Given the description of an element on the screen output the (x, y) to click on. 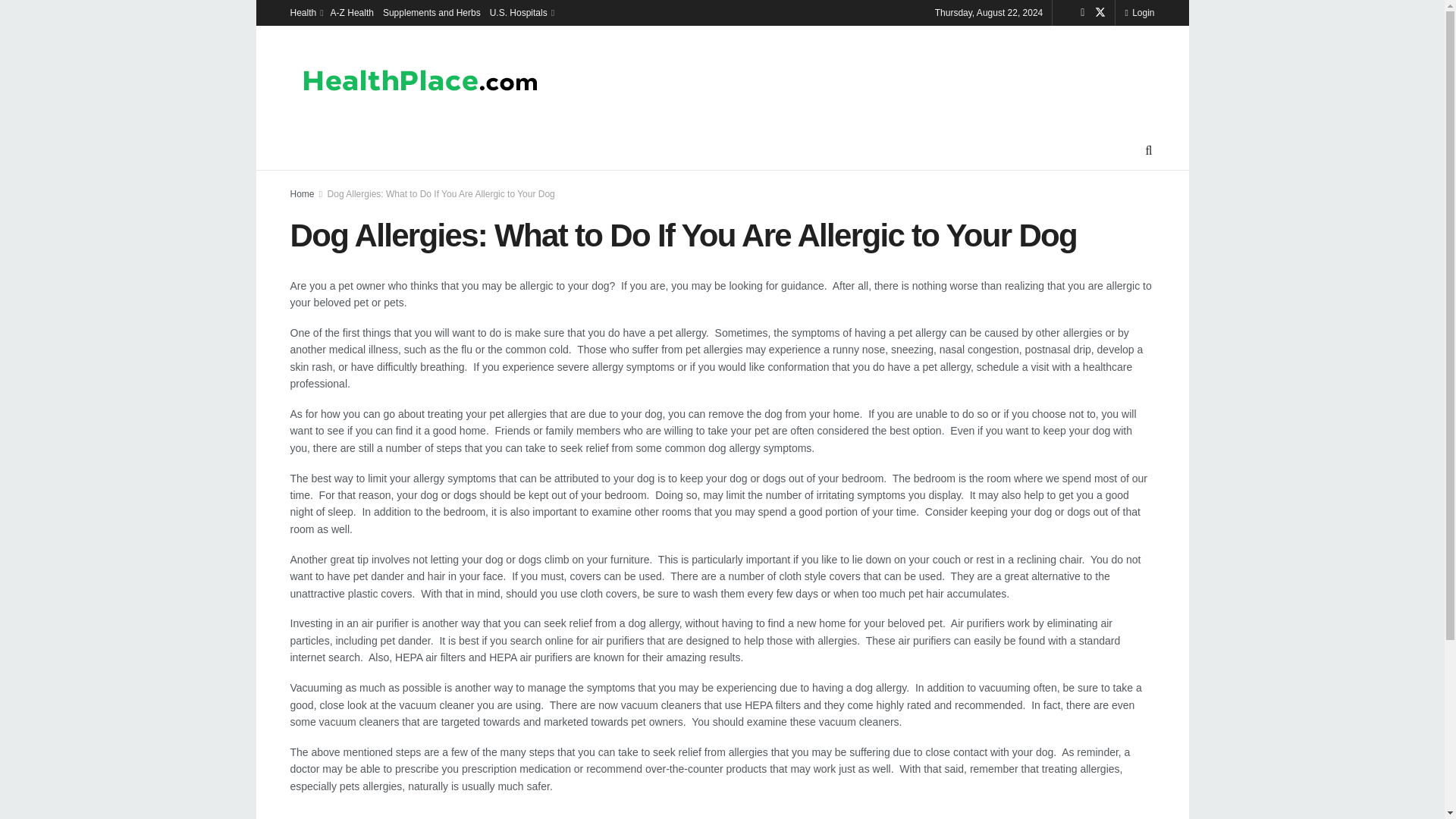
U.S. Hospitals (520, 12)
A-Z Health (352, 12)
Supplements and Herbs (431, 12)
Login (1139, 12)
Health (304, 12)
